Given the description of an element on the screen output the (x, y) to click on. 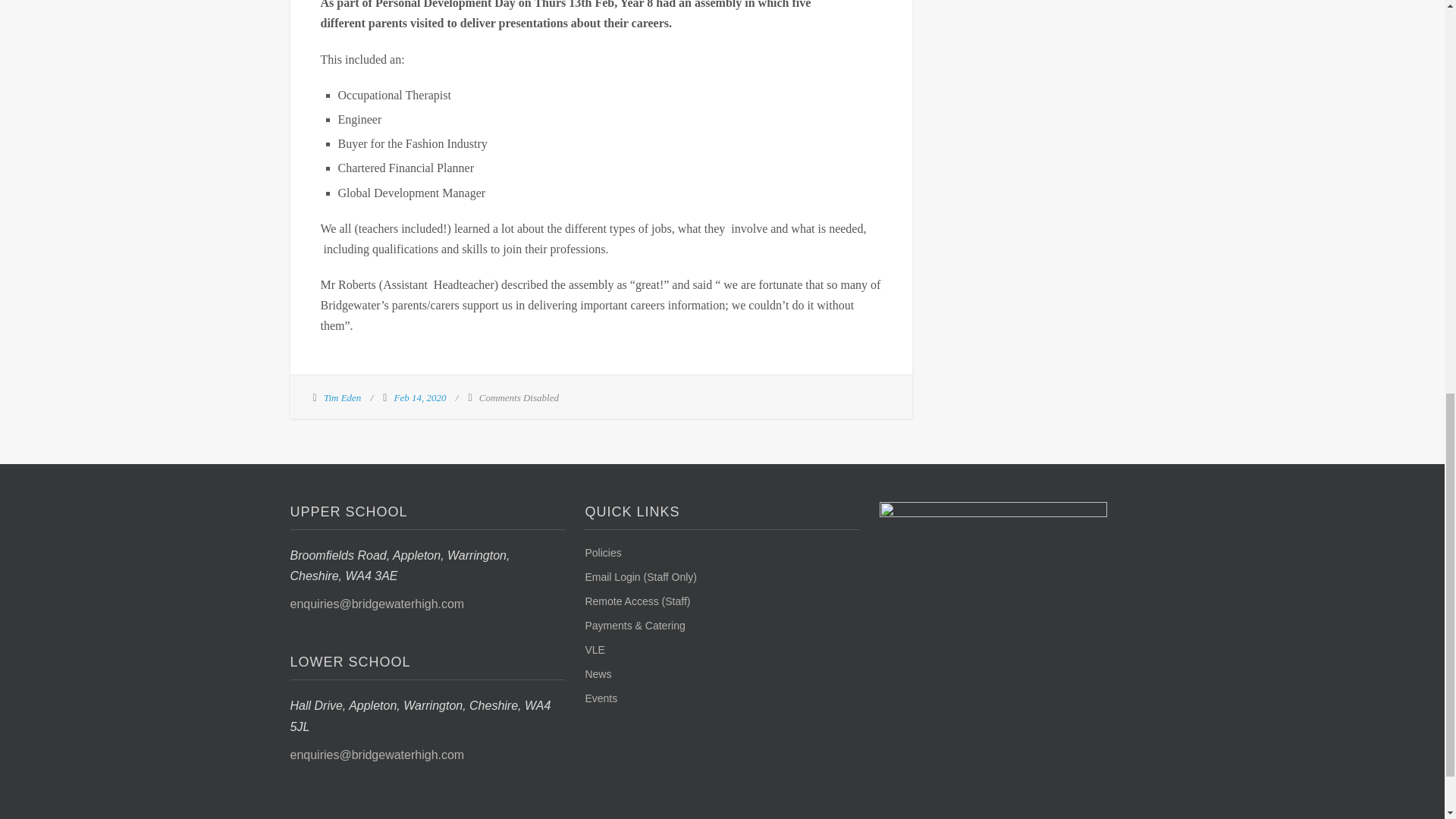
Friday, February, 2020, 3:53 pm (420, 397)
Tim Eden (342, 397)
